Given the description of an element on the screen output the (x, y) to click on. 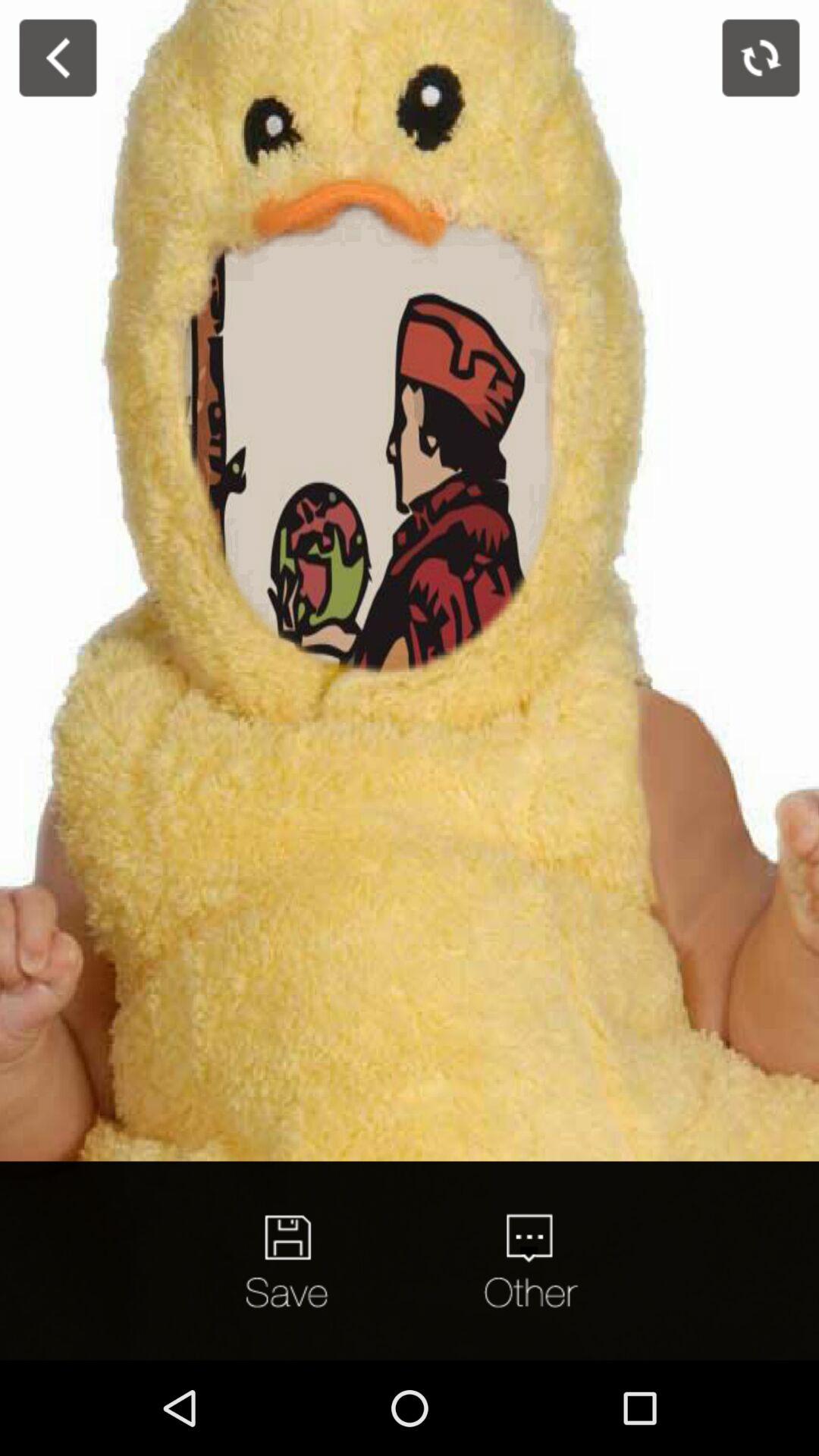
reload page (760, 57)
